Given the description of an element on the screen output the (x, y) to click on. 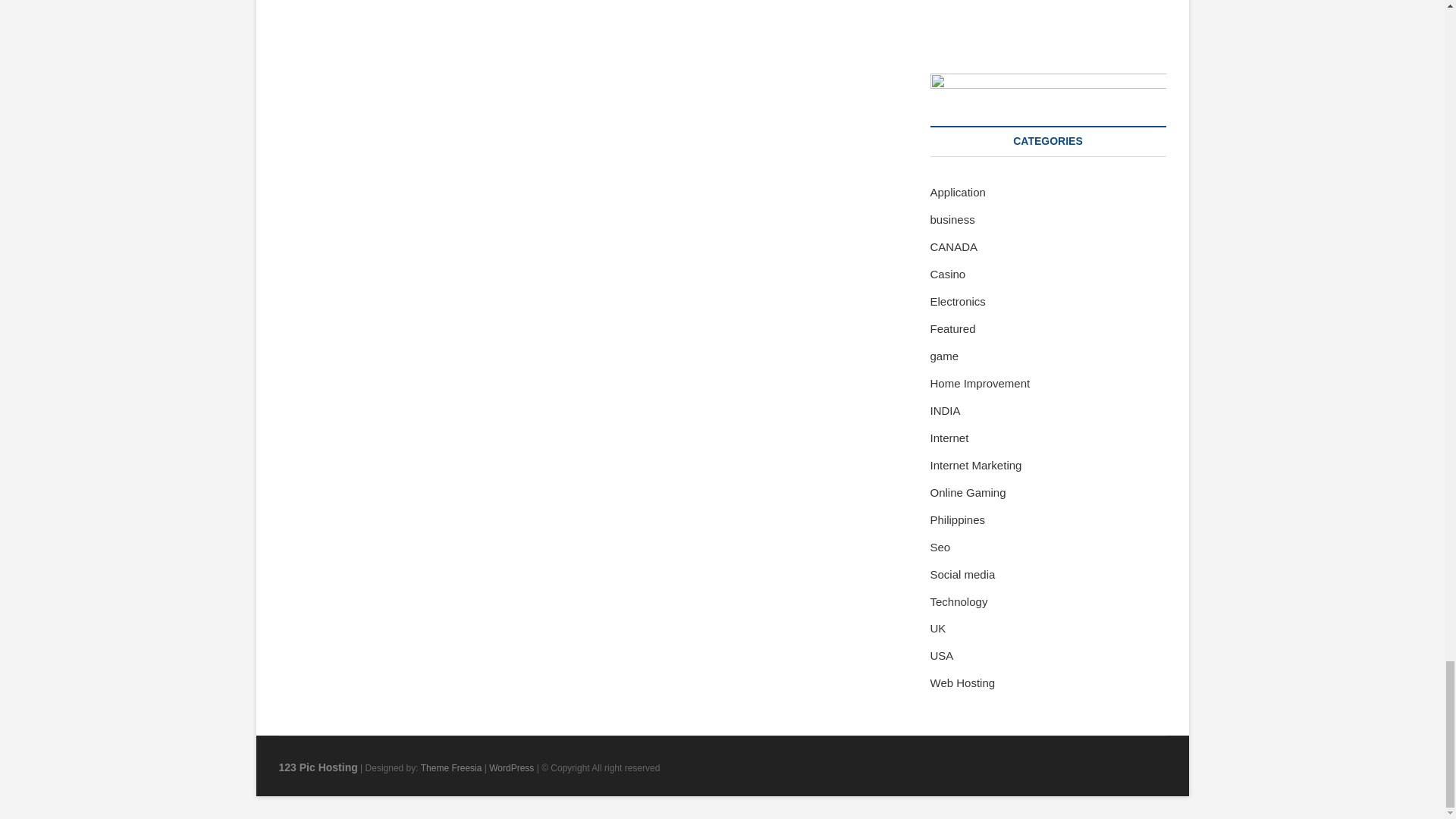
123 Pic Hosting (318, 767)
Theme Freesia (450, 767)
WordPress (511, 767)
